Given the description of an element on the screen output the (x, y) to click on. 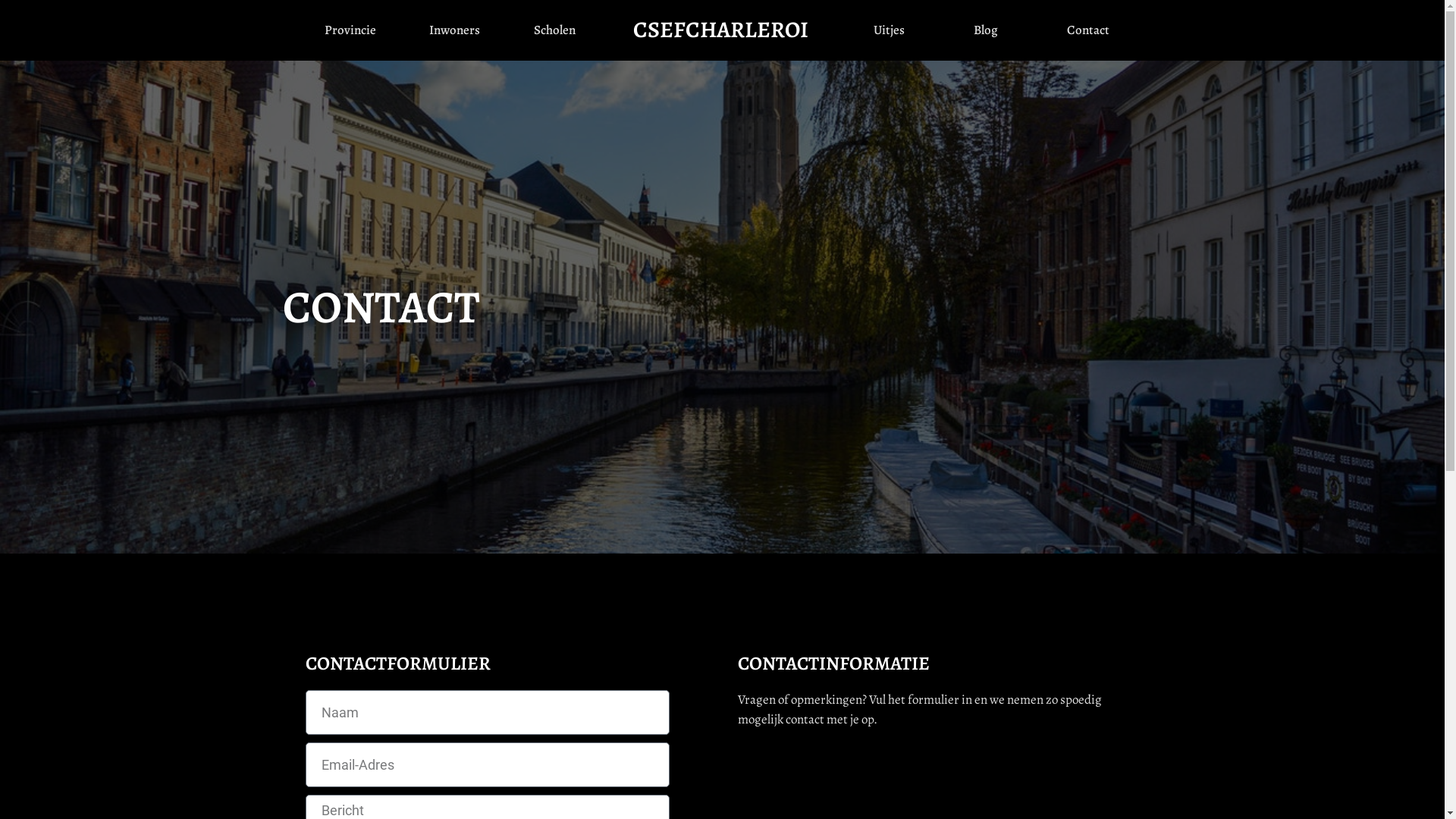
Contact Element type: text (1087, 30)
Provincie Element type: text (349, 30)
Inwoners Element type: text (454, 30)
Blog Element type: text (985, 30)
Uitjes Element type: text (889, 30)
CSEFCHARLEROI Element type: text (720, 29)
Scholen Element type: text (554, 30)
